Given the description of an element on the screen output the (x, y) to click on. 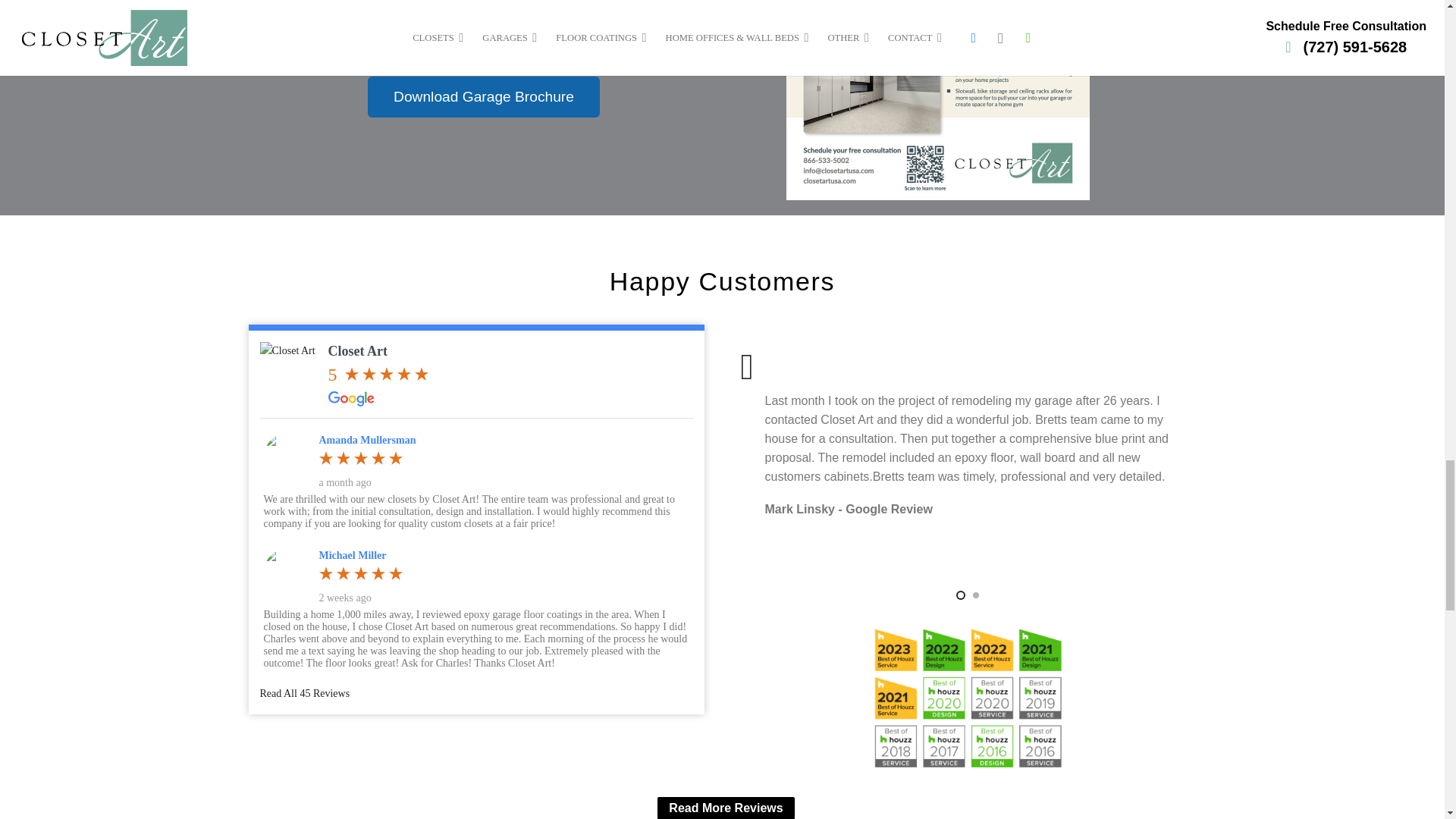
Closet Art (289, 372)
View this profile. (351, 555)
View this profile. (366, 439)
